Given the description of an element on the screen output the (x, y) to click on. 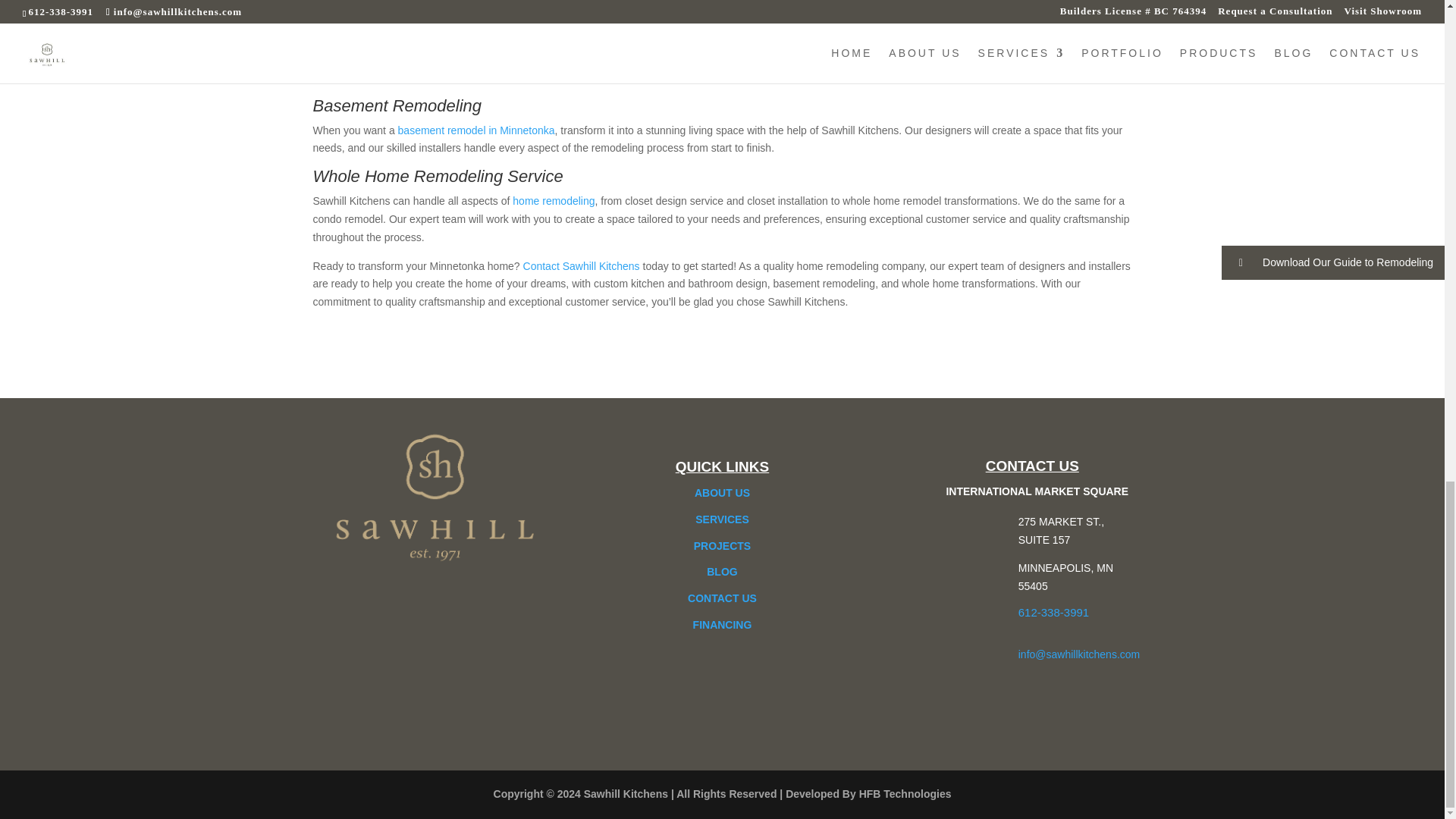
CONTACT US (722, 598)
Contact Sawhill Kitchens (581, 265)
SERVICES (722, 519)
basement remodel in Minnetonka (475, 130)
Bath Remodel (365, 34)
612-338-3991 (1053, 612)
bathroom remodel Minnetonka (422, 59)
HFB Technologies (905, 793)
home remodeling (553, 200)
FINANCING (722, 624)
